Given the description of an element on the screen output the (x, y) to click on. 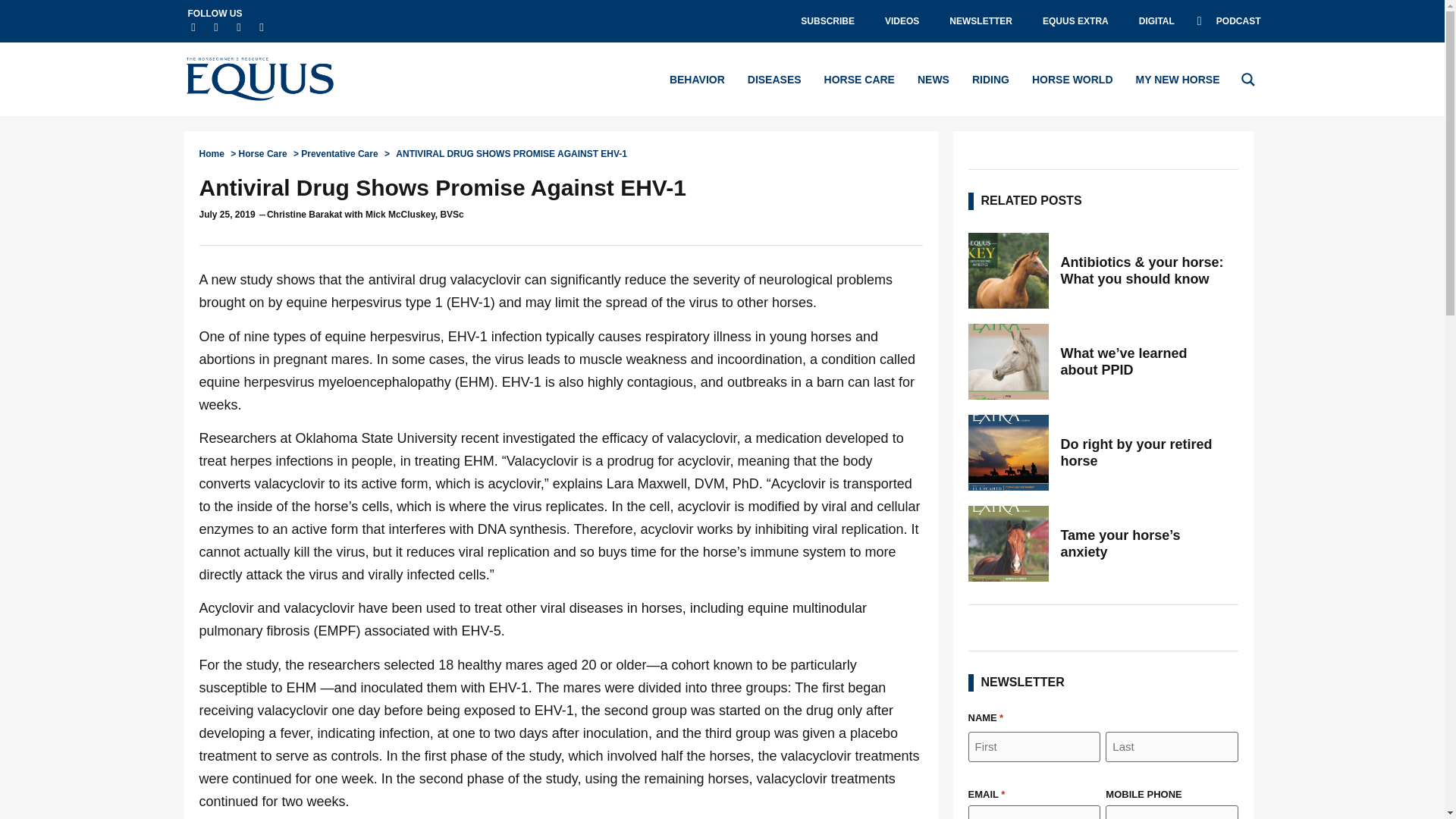
BEHAVIOR (697, 79)
PODCAST (1228, 20)
Do right by your retired horse (1008, 452)
HORSE CARE (859, 79)
SUBSCRIBE (827, 21)
NEWSLETTER (980, 21)
DIGITAL (1156, 21)
NEWS (933, 79)
VIDEOS (901, 21)
EQUUS EXTRA (1075, 21)
